Given the description of an element on the screen output the (x, y) to click on. 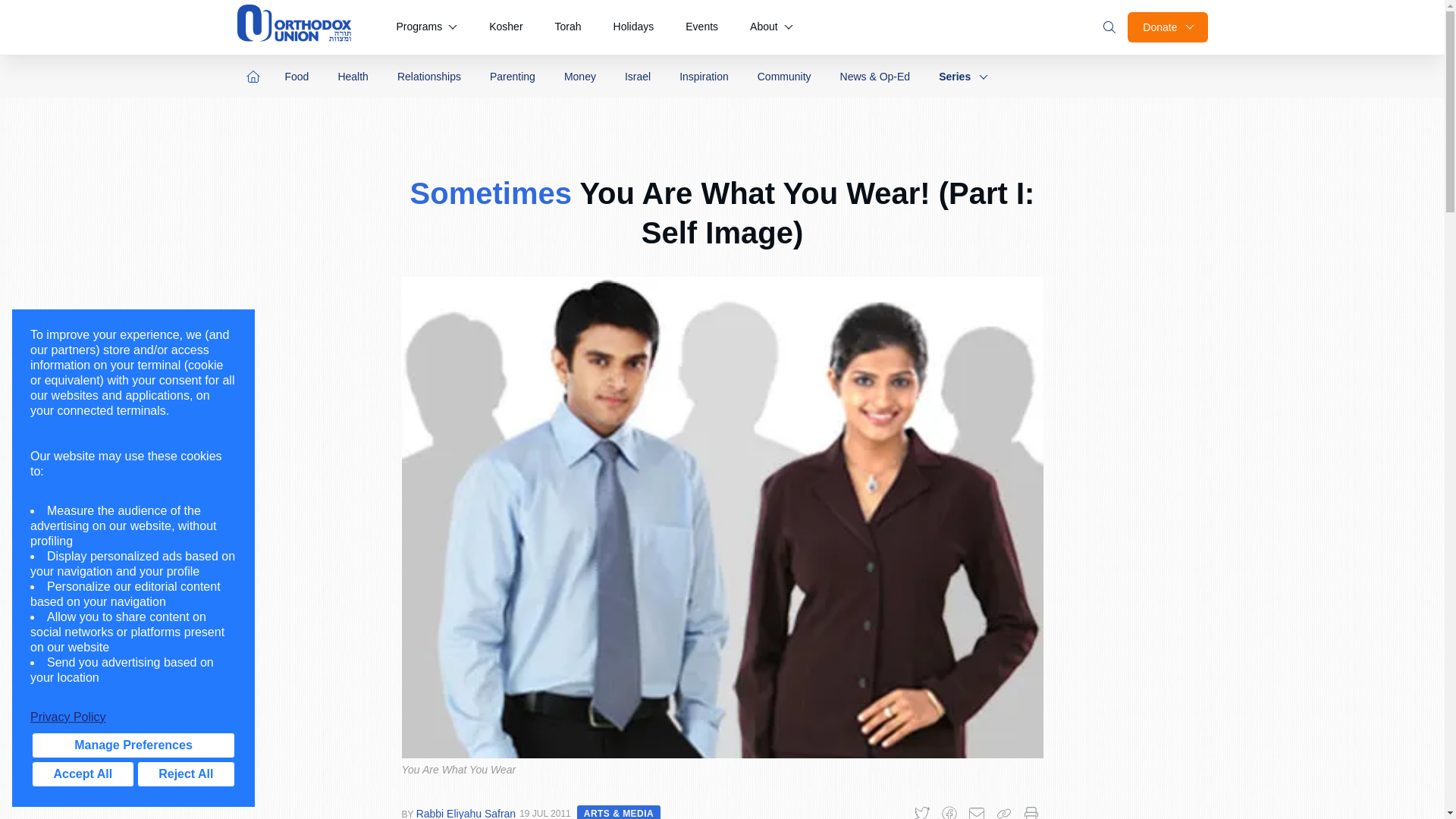
Reject All (185, 774)
Holidays (633, 27)
Accept All (82, 774)
Programs (425, 27)
Kosher (505, 27)
Privacy Policy (132, 717)
Posts by Rabbi Eliyahu Safran (466, 813)
Torah (568, 27)
Events (701, 27)
Manage Preferences (133, 745)
